Given the description of an element on the screen output the (x, y) to click on. 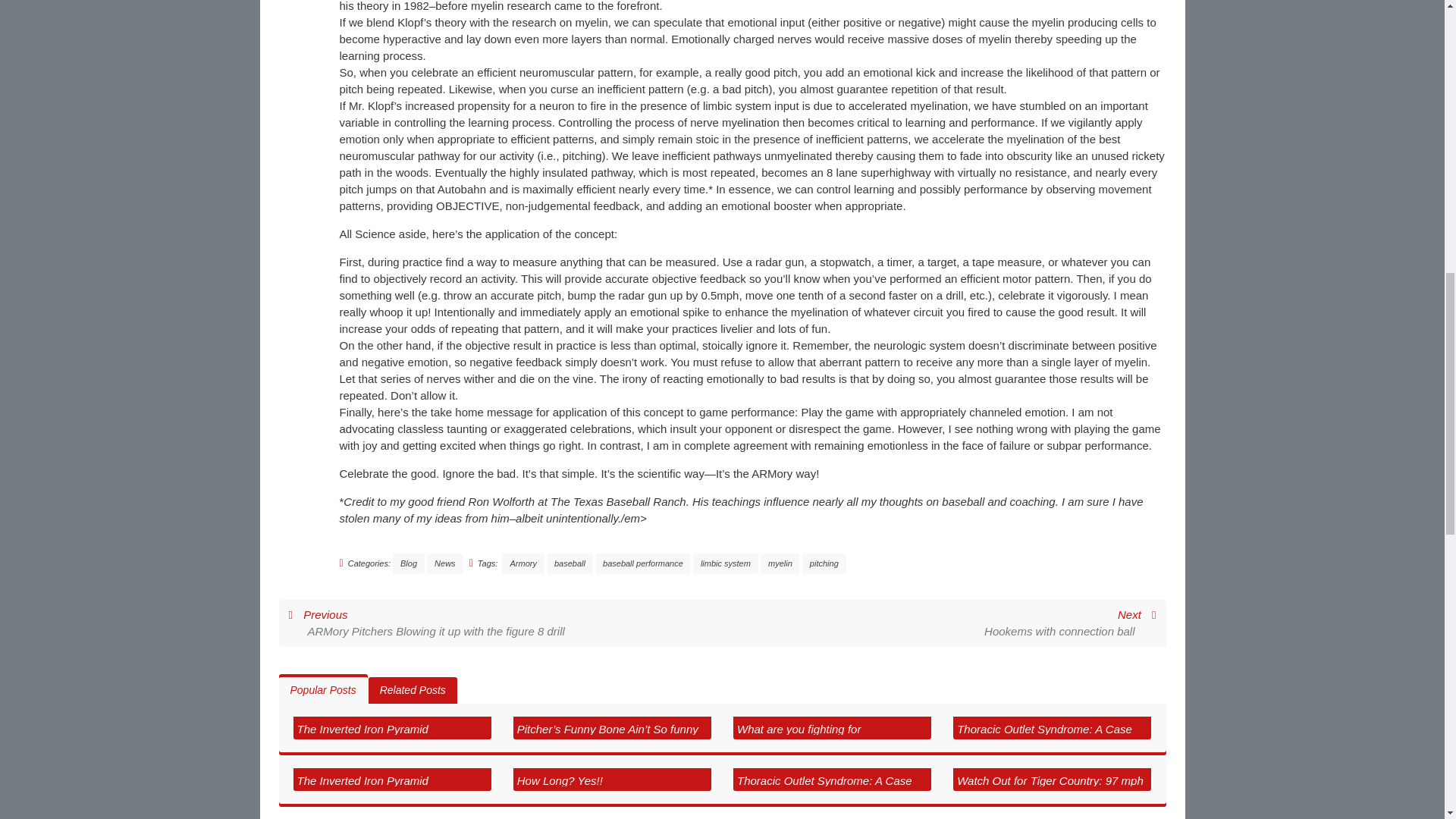
Thoracic Outlet Syndrome: A Case Study (1044, 737)
News (444, 563)
The Inverted Iron Pyramid (362, 728)
baseball performance (642, 563)
How Long? Yes!! (559, 780)
pitching (823, 563)
Blog (409, 563)
myelin (779, 563)
baseball (1070, 622)
limbic system (569, 563)
What are you fighting for (725, 563)
Thoracic Outlet Syndrome: A Case Study (798, 728)
Armory (824, 788)
